Given the description of an element on the screen output the (x, y) to click on. 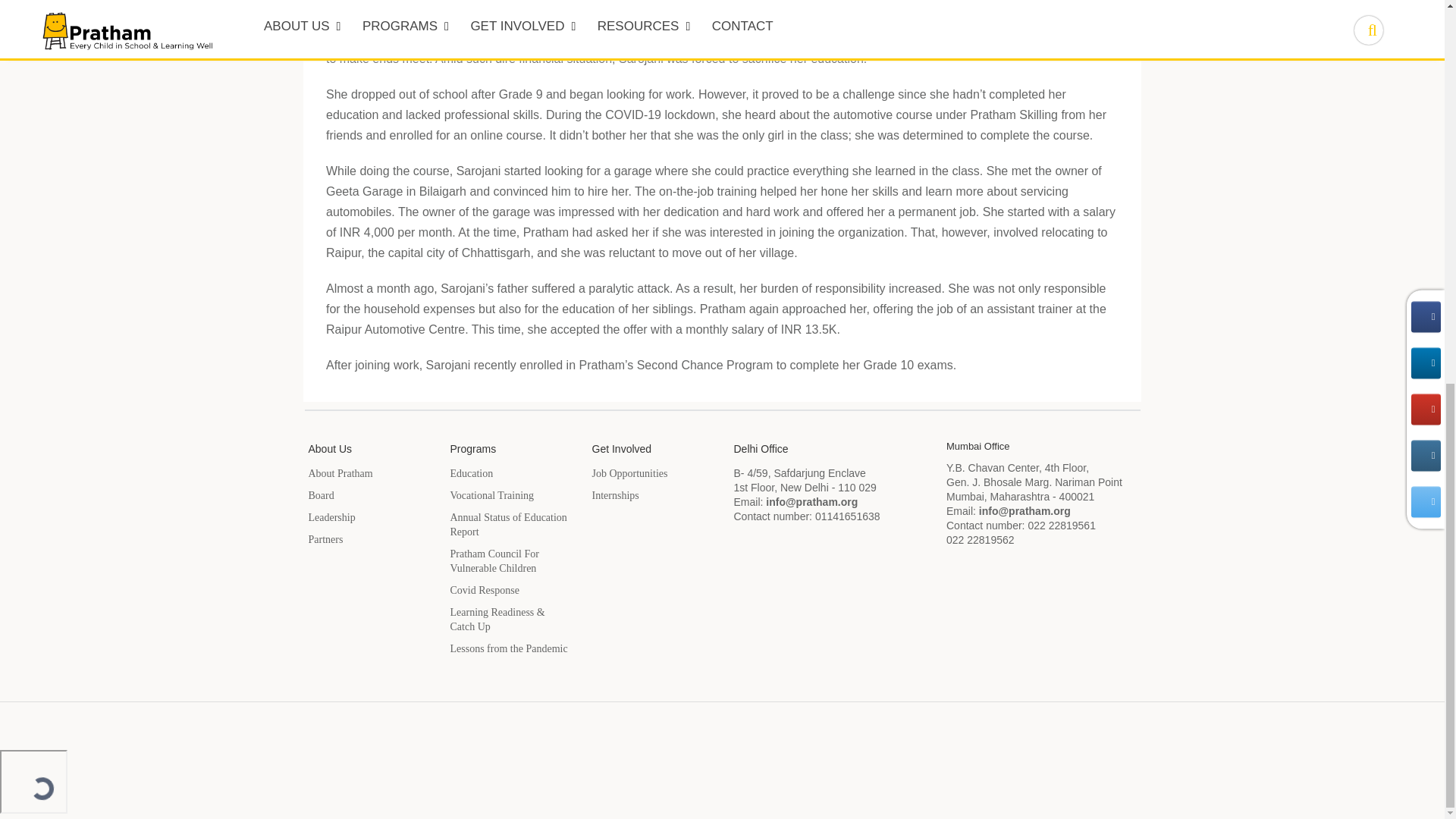
About Pratham (339, 473)
